Given the description of an element on the screen output the (x, y) to click on. 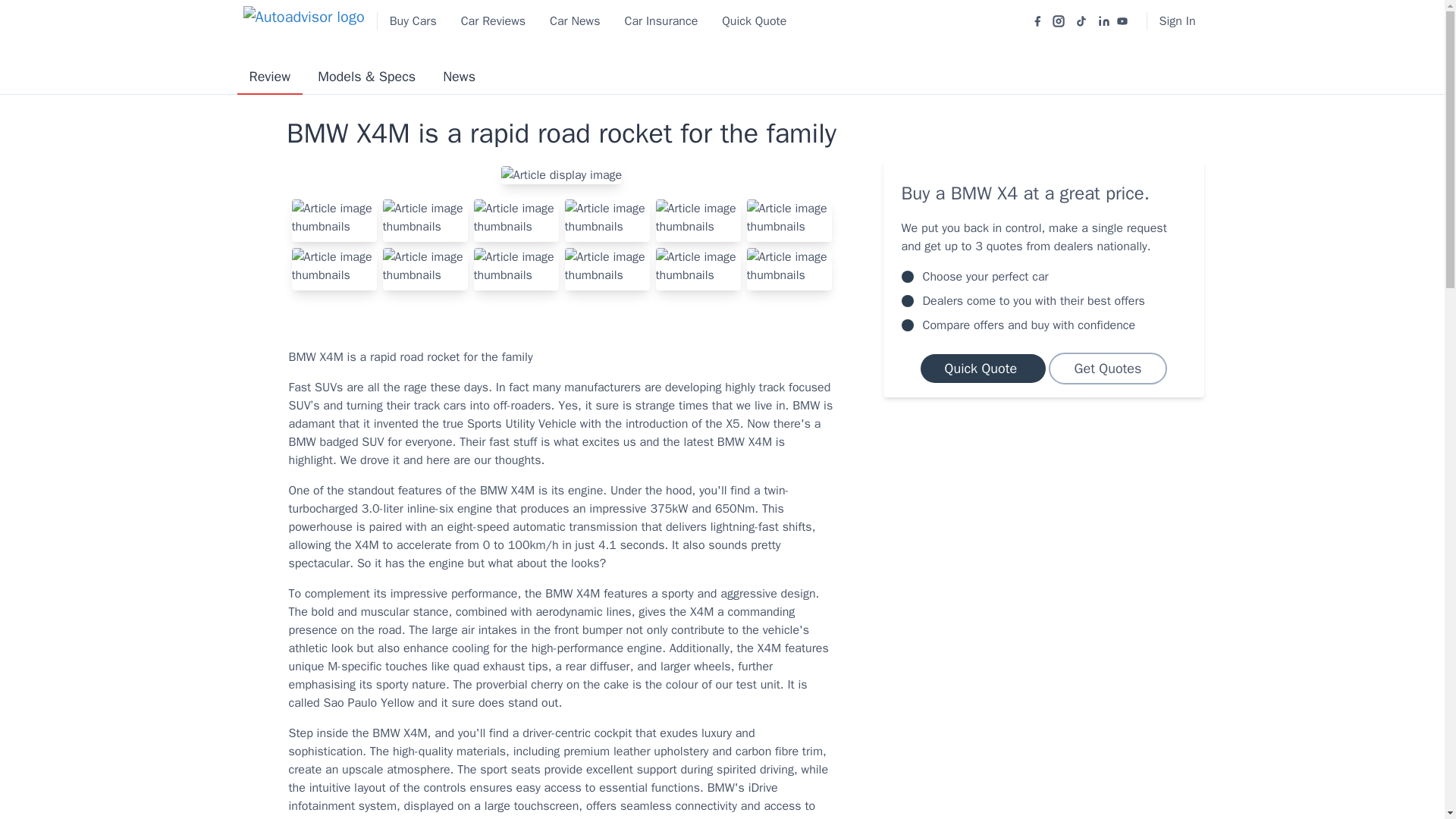
Buy Cars (412, 21)
